Given the description of an element on the screen output the (x, y) to click on. 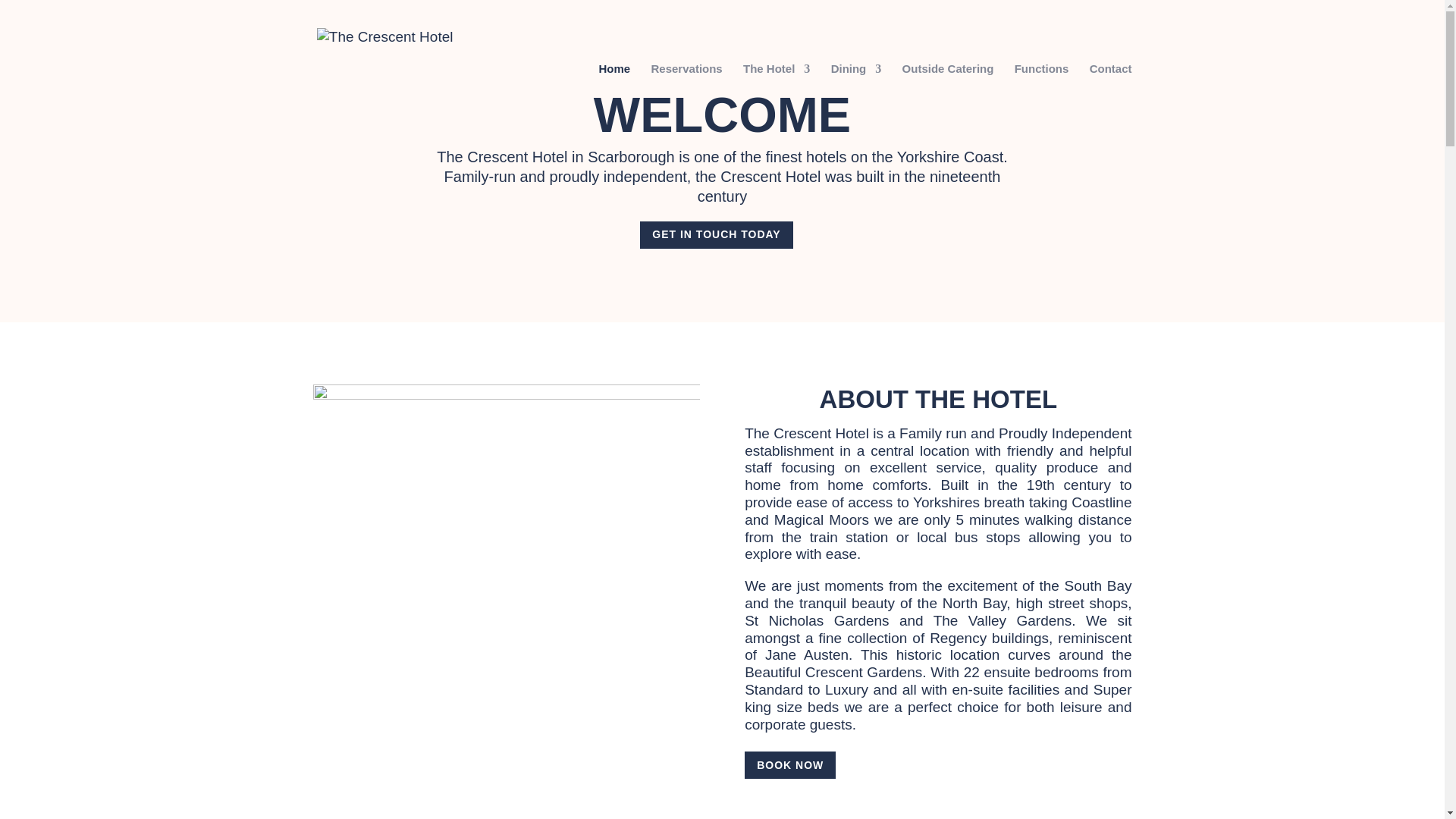
GET IN TOUCH TODAY (716, 234)
BOOK NOW (789, 764)
The Hotel (775, 100)
SRW2-D1-0100 (505, 513)
Reservations (686, 100)
Outside Catering (948, 100)
